Given the description of an element on the screen output the (x, y) to click on. 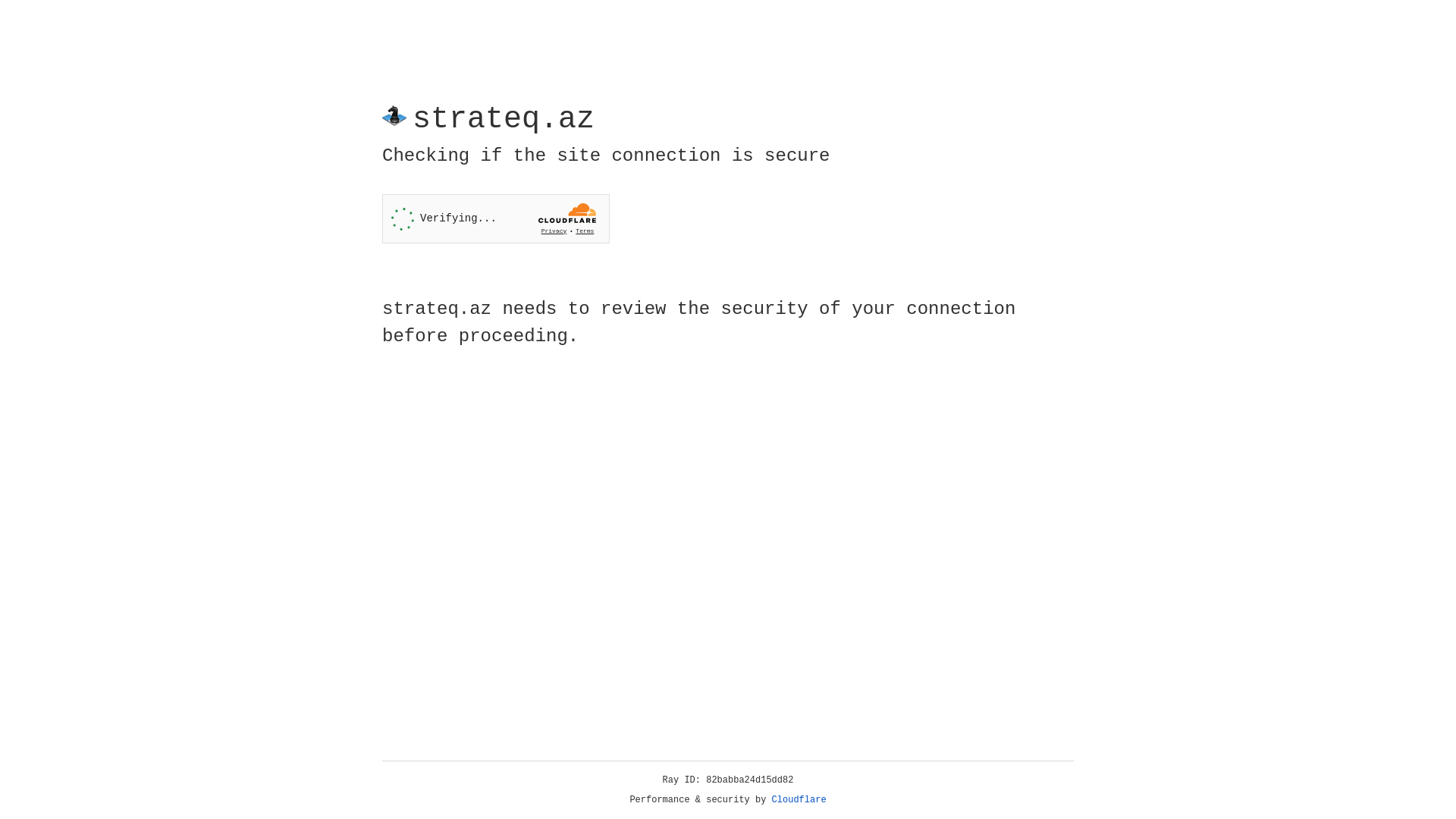
Cloudflare Element type: text (798, 799)
Widget containing a Cloudflare security challenge Element type: hover (495, 218)
